Given the description of an element on the screen output the (x, y) to click on. 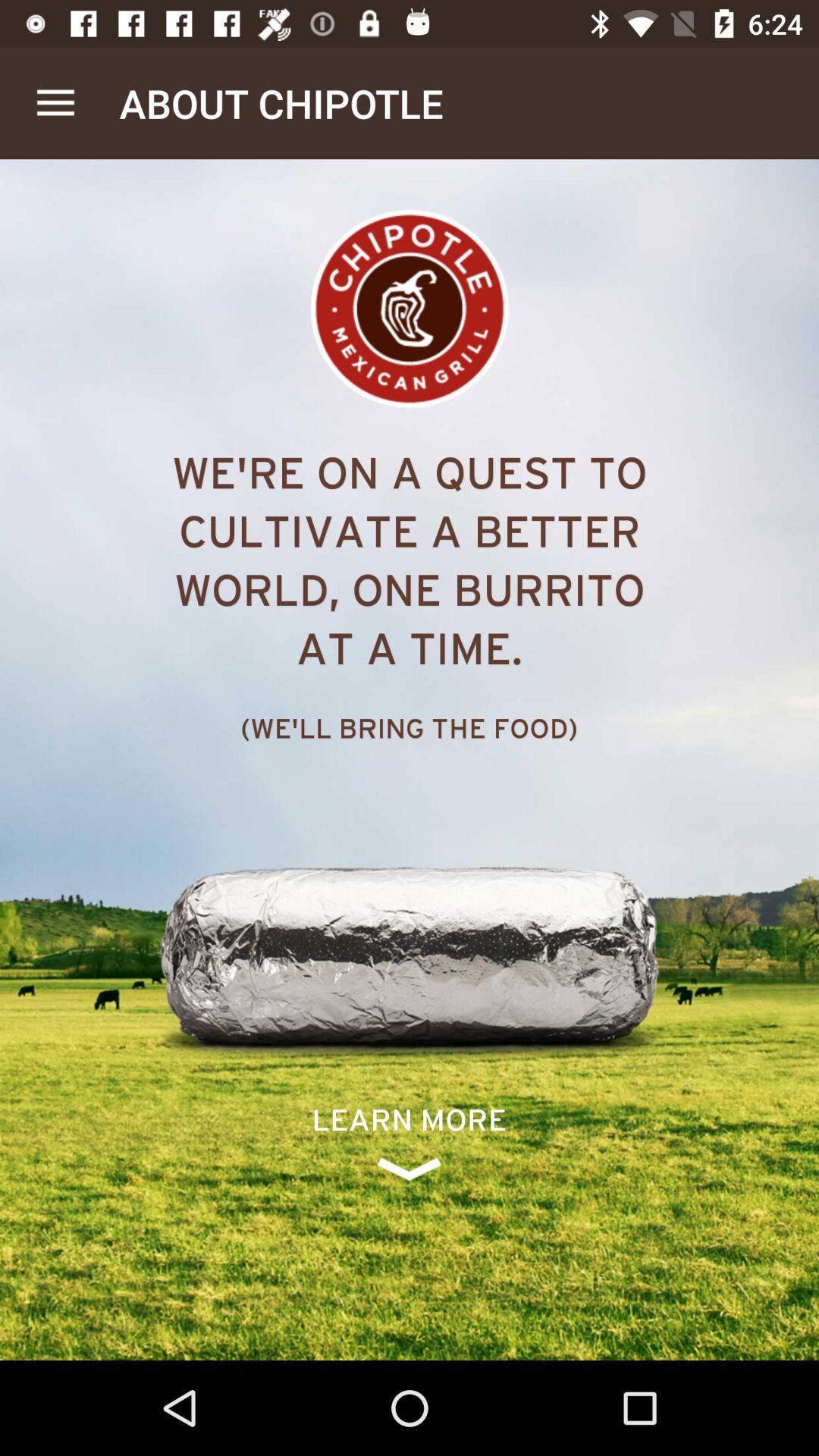
flip until the learn more icon (408, 1141)
